Given the description of an element on the screen output the (x, y) to click on. 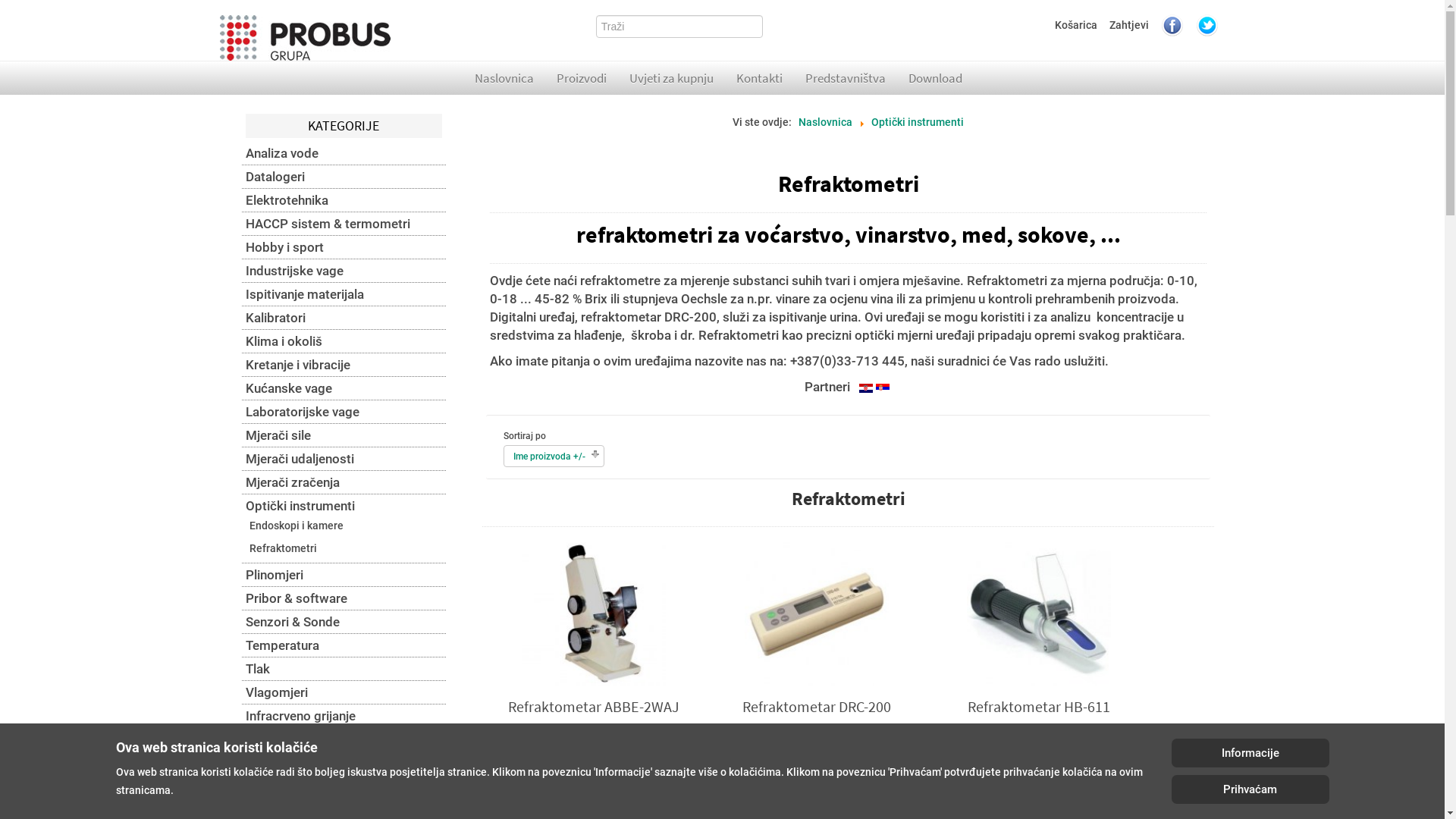
Laboratorijske vage Element type: text (343, 411)
Refraktometar HB-611 Element type: hover (1038, 612)
Plinomjeri Element type: text (343, 574)
Uvjeti za kupnju Element type: text (671, 77)
Probus Element type: hover (304, 37)
Ime proizvoda +/- Element type: text (549, 456)
Industrijske vage Element type: text (343, 270)
Kontakti Element type: text (758, 77)
Temperatura Element type: text (343, 645)
Naslovnica Element type: text (825, 122)
Infracrveno grijanje Element type: text (343, 715)
Informacije Element type: text (1249, 752)
Kretanje i vibracije Element type: text (343, 364)
Refraktometar ABBE-2WAJ Element type: hover (593, 612)
Analiza vode Element type: text (343, 152)
HACCP sistem & termometri Element type: text (343, 223)
Download Element type: text (935, 77)
Elektrotehnika Element type: text (343, 199)
Refraktometar ABBE-2WAJ Element type: text (593, 705)
Refraktometri Element type: text (282, 548)
Ista stranica u Srbiji Element type: hover (882, 387)
Refraktometar DRC-200 Element type: hover (816, 612)
Ispitivanje materijala Element type: text (343, 293)
Tlak Element type: text (343, 668)
Ista stranica u Hrvatskoj Element type: hover (865, 387)
Pribor & software Element type: text (343, 597)
Proizvodi Element type: text (581, 77)
Datalogeri Element type: text (343, 176)
Refraktometar HB-611 Element type: text (1038, 705)
Senzori & Sonde Element type: text (343, 621)
Hobby i sport Element type: text (343, 246)
Kalibratori Element type: text (343, 317)
Endoskopi i kamere Element type: text (296, 525)
Naslovnica Element type: text (504, 77)
Refraktometar DRC-200 Element type: text (816, 705)
Zahtjevi Element type: text (1128, 24)
Vlagomjeri Element type: text (343, 692)
